Given the description of an element on the screen output the (x, y) to click on. 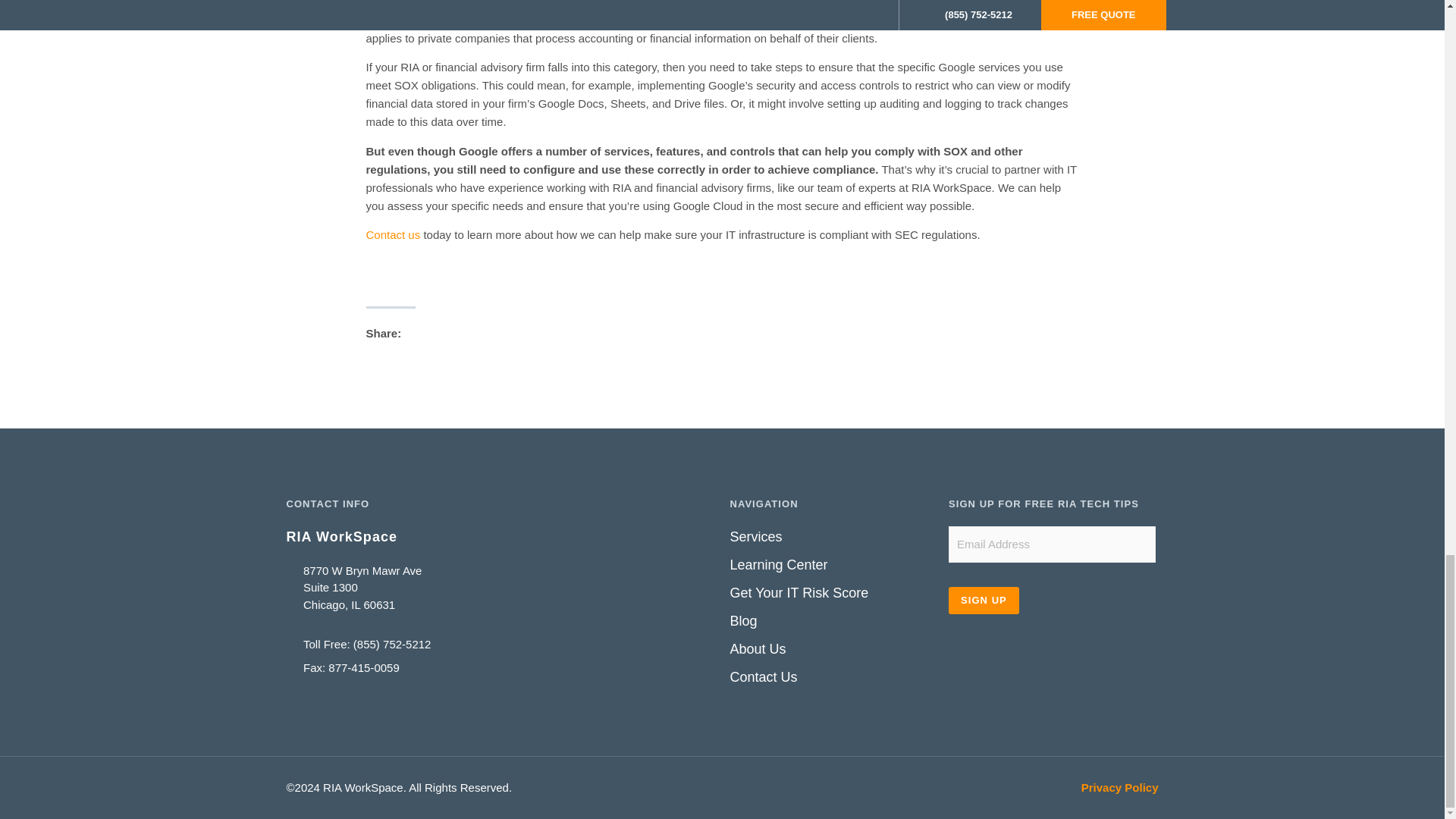
Privacy Policy (1119, 787)
SIGN UP (984, 600)
Blog (831, 620)
About Us (831, 649)
SIGN UP (984, 600)
Contact us (392, 234)
Get Your IT Risk Score (831, 593)
Contact Us (831, 677)
Services (831, 537)
Learning Center (831, 565)
